Given the description of an element on the screen output the (x, y) to click on. 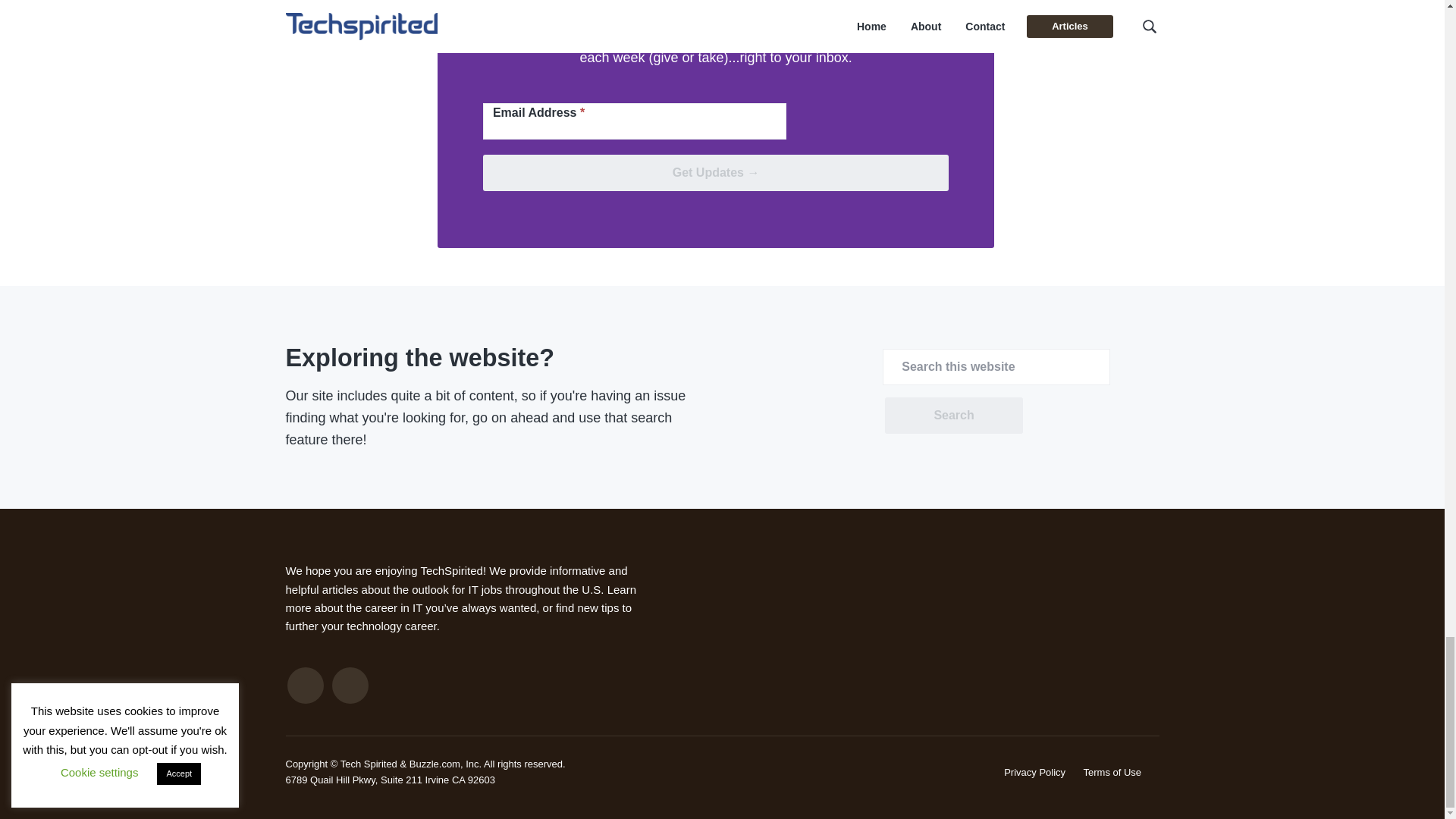
Search (953, 415)
Search (953, 415)
Search (953, 415)
Terms of Use (1112, 772)
Privacy Policy (1034, 772)
